Given the description of an element on the screen output the (x, y) to click on. 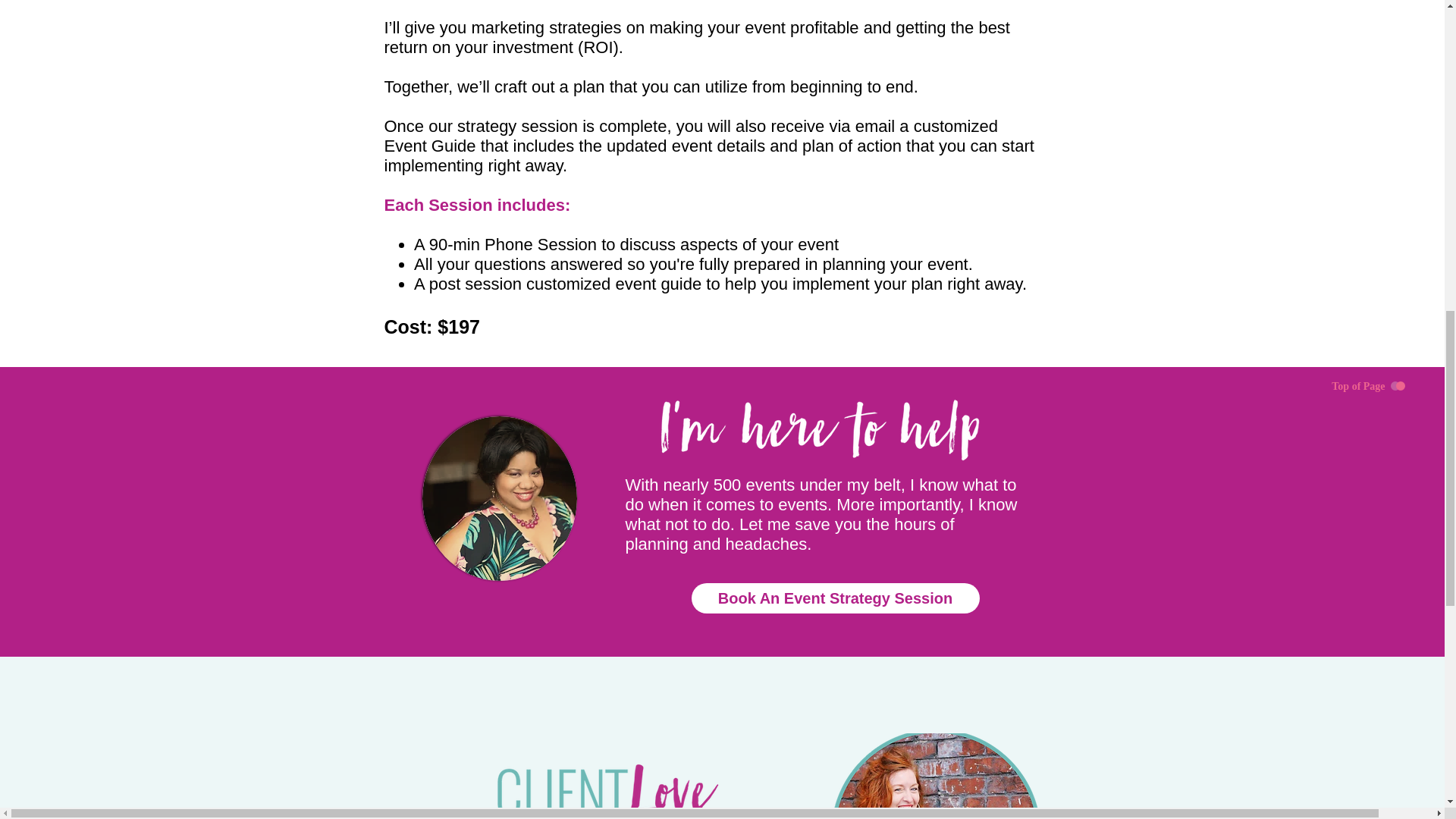
Book An Event Strategy Session (835, 598)
